Given the description of an element on the screen output the (x, y) to click on. 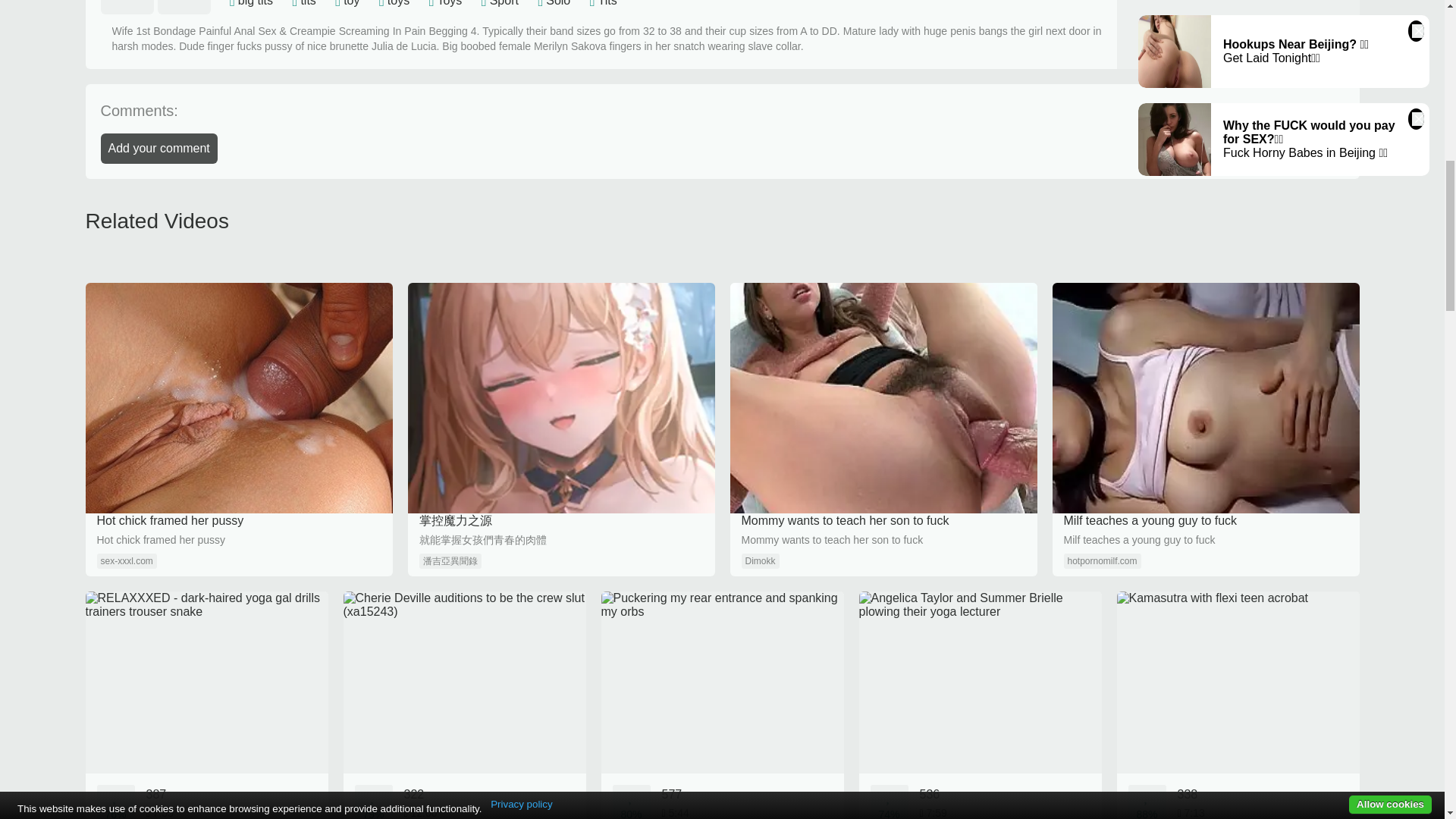
toy (351, 3)
Kamasutra with flexi teen acrobat (1237, 705)
Toys (448, 3)
RELAXXXED - dark-haired yoga gal drills (205, 705)
Cherie Deville auditions to be the crew (463, 705)
Angelica Taylor and Summer Brielle (979, 705)
Dislike! (184, 7)
big tits (255, 3)
Tits (607, 3)
tits (307, 3)
Like! (126, 7)
Solo (558, 3)
